Given the description of an element on the screen output the (x, y) to click on. 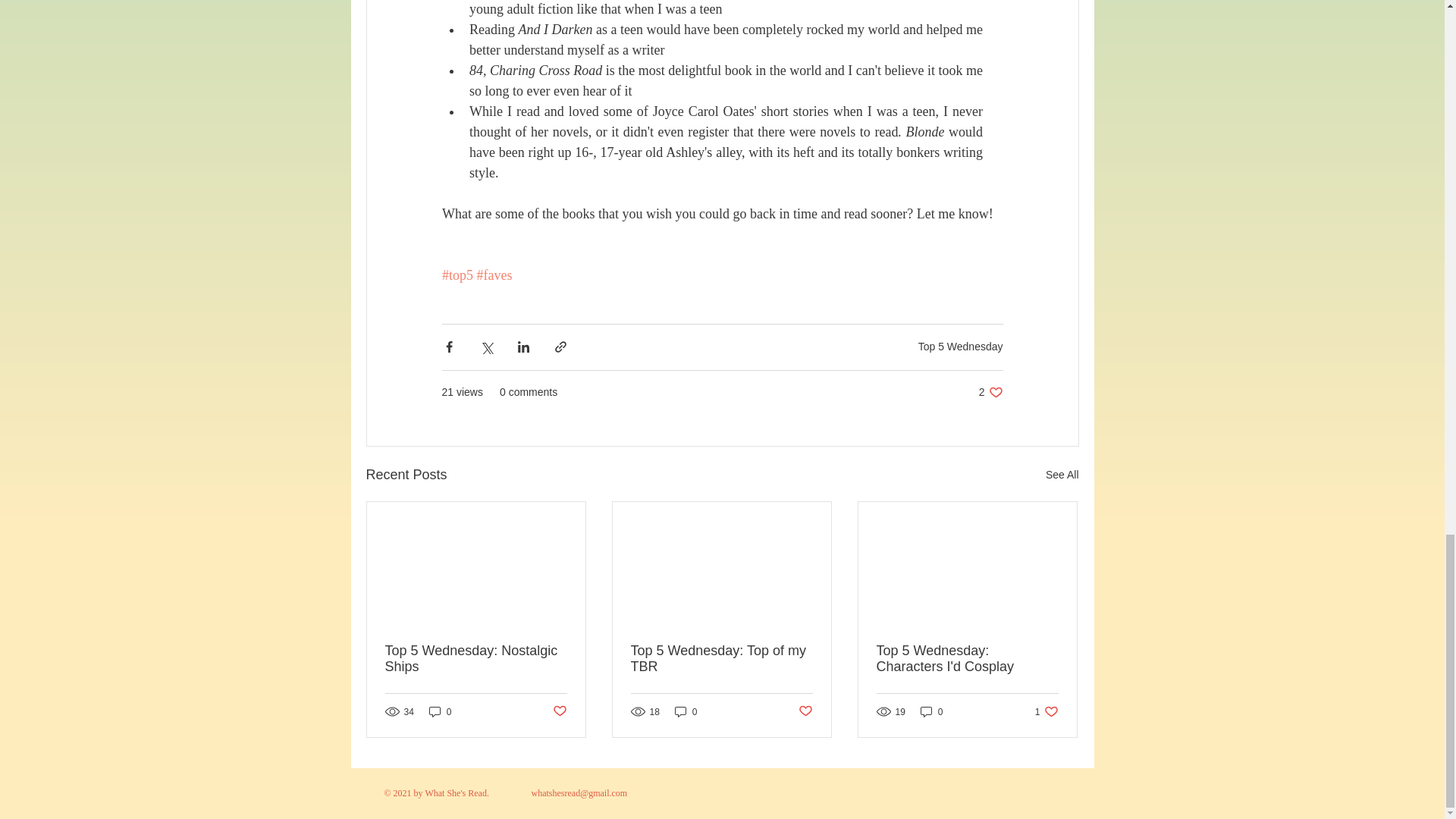
Top 5 Wednesday: Characters I'd Cosplay (967, 658)
0 (931, 711)
Top 5 Wednesday: Nostalgic Ships (476, 658)
See All (990, 391)
0 (1061, 475)
Top 5 Wednesday (685, 711)
Post not marked as liked (960, 346)
Top 5 Wednesday: Top of my TBR (804, 711)
Post not marked as liked (721, 658)
0 (1046, 711)
